Given the description of an element on the screen output the (x, y) to click on. 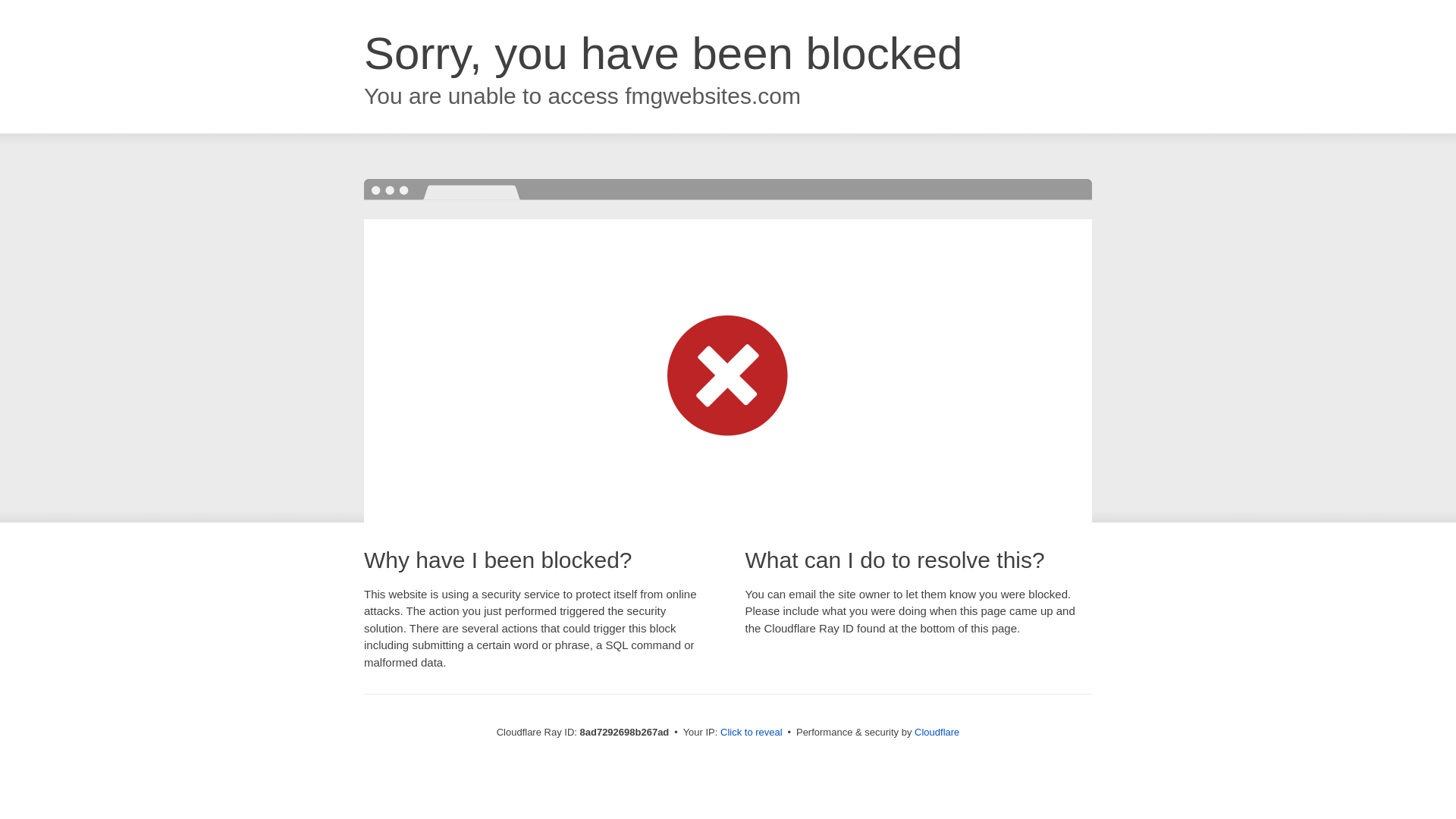
Click to reveal (751, 732)
Cloudflare (936, 731)
